Given the description of an element on the screen output the (x, y) to click on. 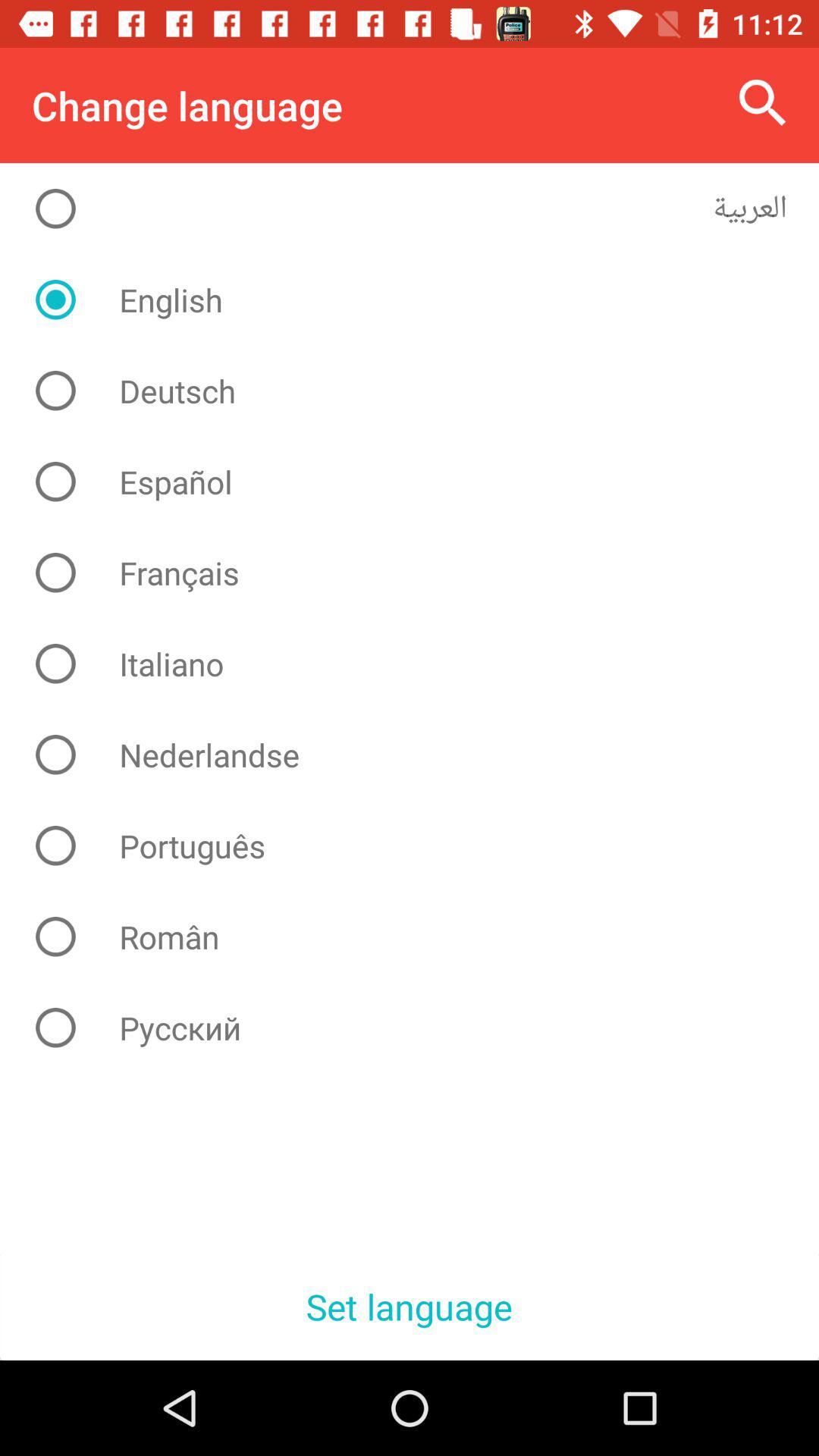
press the item below the deutsch item (421, 481)
